Given the description of an element on the screen output the (x, y) to click on. 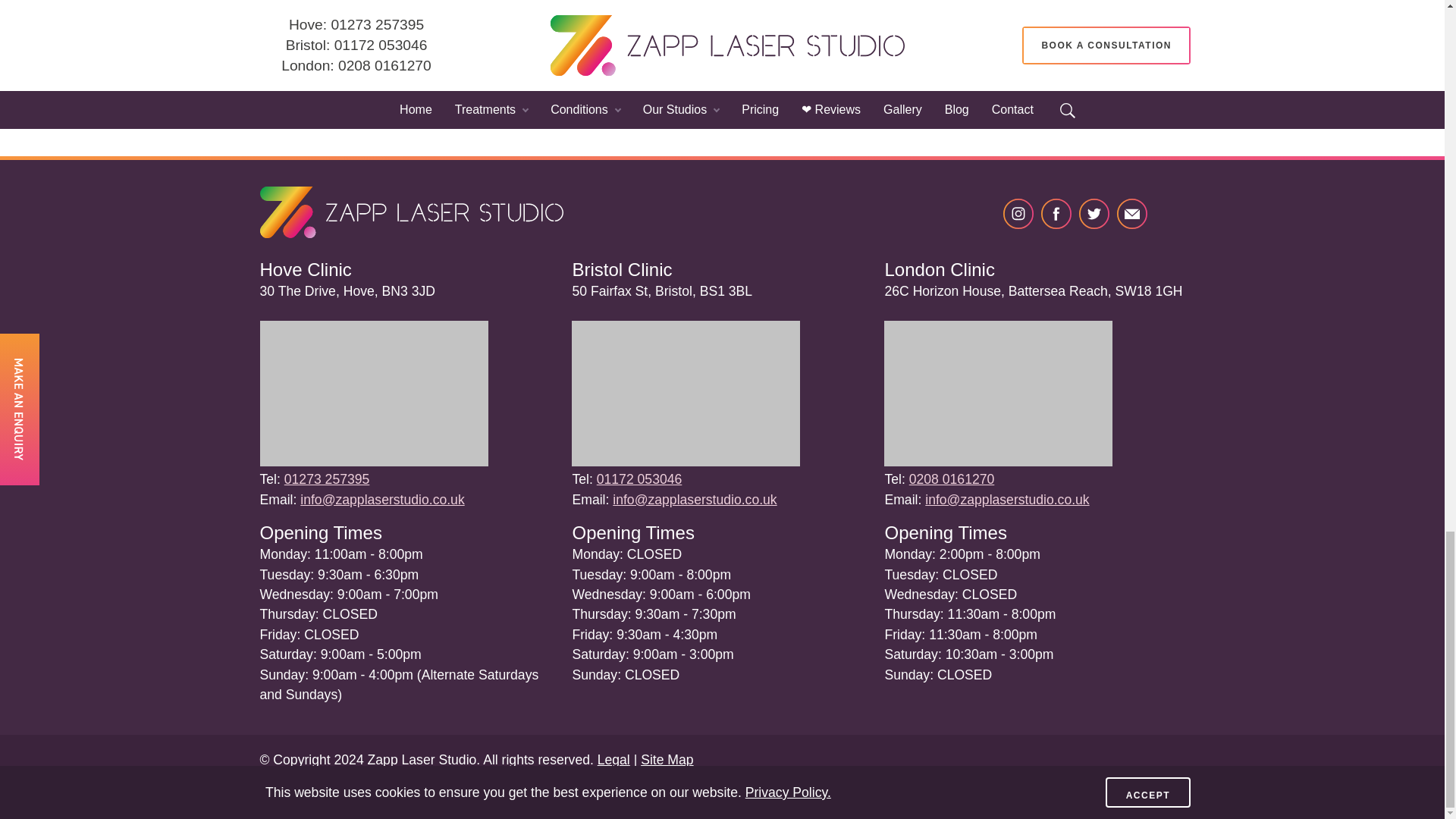
Zapp Laser Studio (410, 212)
Instagram (1017, 214)
Hove map (373, 461)
Bristol map (685, 461)
London map (997, 461)
Twitter (1093, 214)
Email (1131, 214)
Facebook (1055, 214)
